Given the description of an element on the screen output the (x, y) to click on. 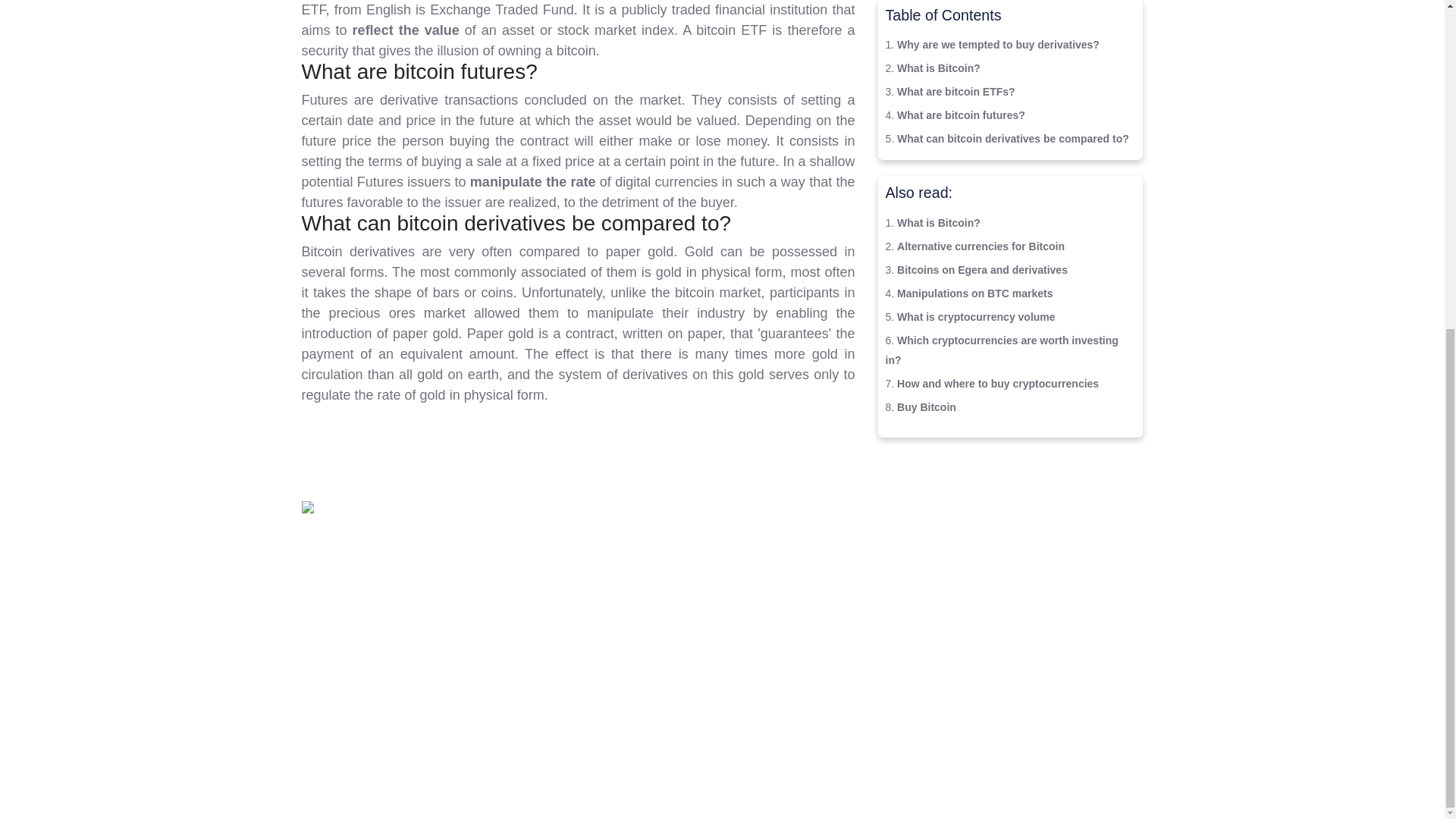
How and where to buy cryptocurrencies (997, 383)
Manipulations on BTC markets (974, 293)
Czym jest Bitcoin? (624, 631)
What is Bitcoin? (937, 223)
Alternative currencies for Bitcoin (980, 246)
Bitcoins on Egera and derivatives (981, 269)
Buy Bitcoin (926, 407)
Kup Bitcoin na Egerze! (615, 607)
What is cryptocurrency volume (975, 316)
Which cryptocurrencies are worth investing in? (1001, 350)
Exchange rates (625, 532)
Najszybszy Kantor Kryptowalut (630, 582)
